Given the description of an element on the screen output the (x, y) to click on. 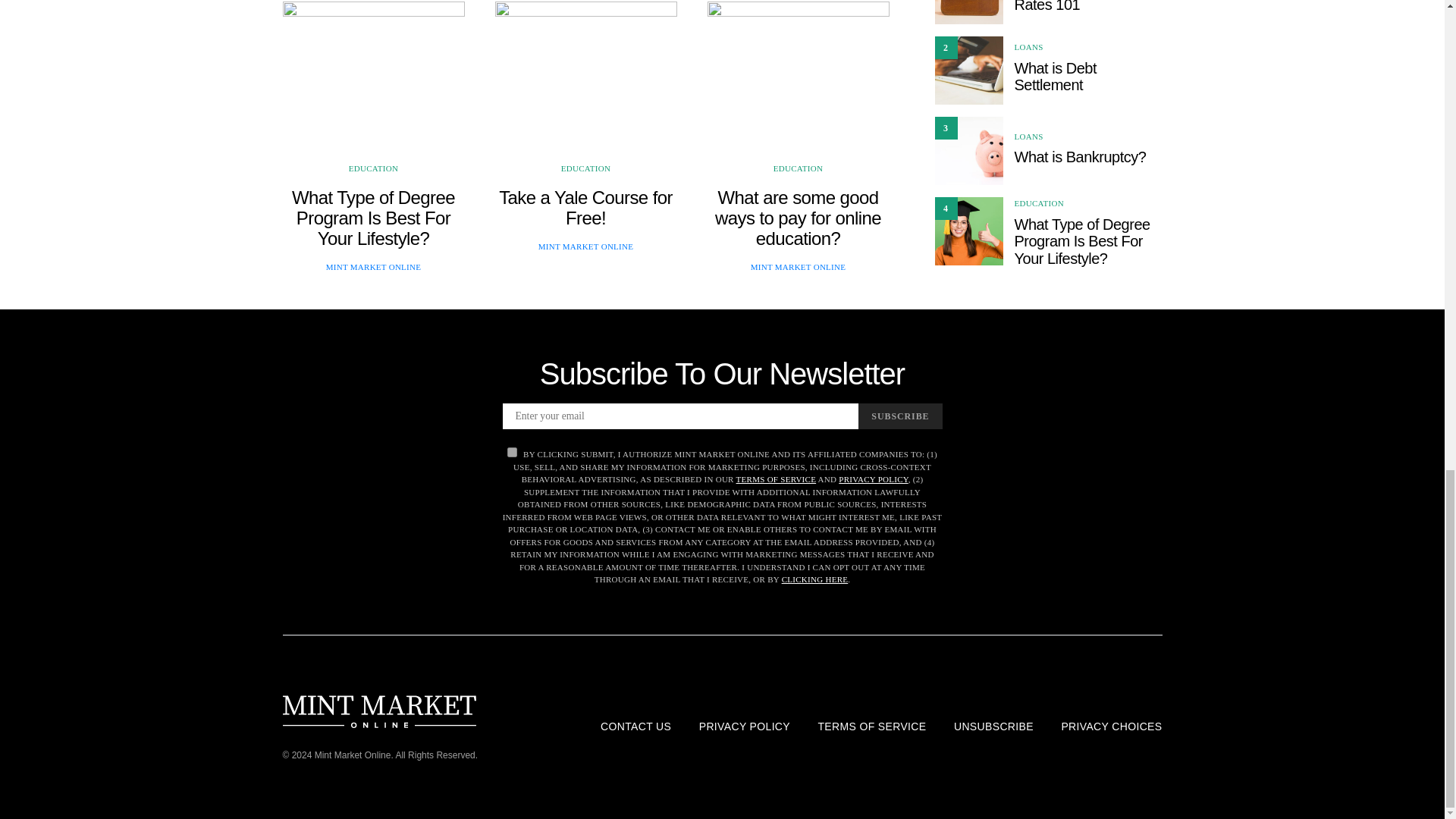
View all posts by Mint Market Online (374, 266)
View all posts by Mint Market Online (798, 266)
on (511, 452)
View all posts by Mint Market Online (585, 245)
